Given the description of an element on the screen output the (x, y) to click on. 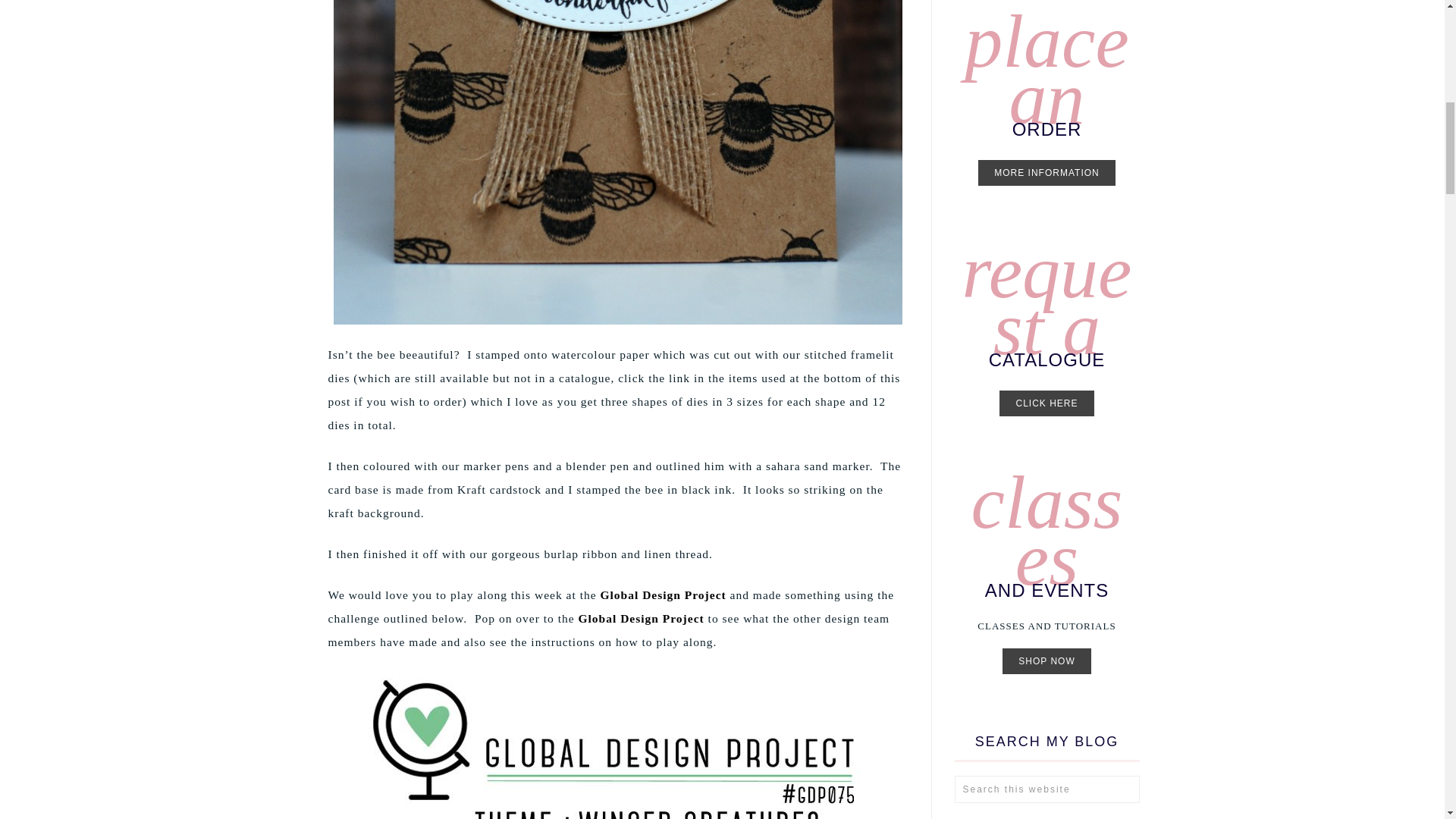
Global Design Project (664, 594)
Global Design Project (640, 617)
